Given the description of an element on the screen output the (x, y) to click on. 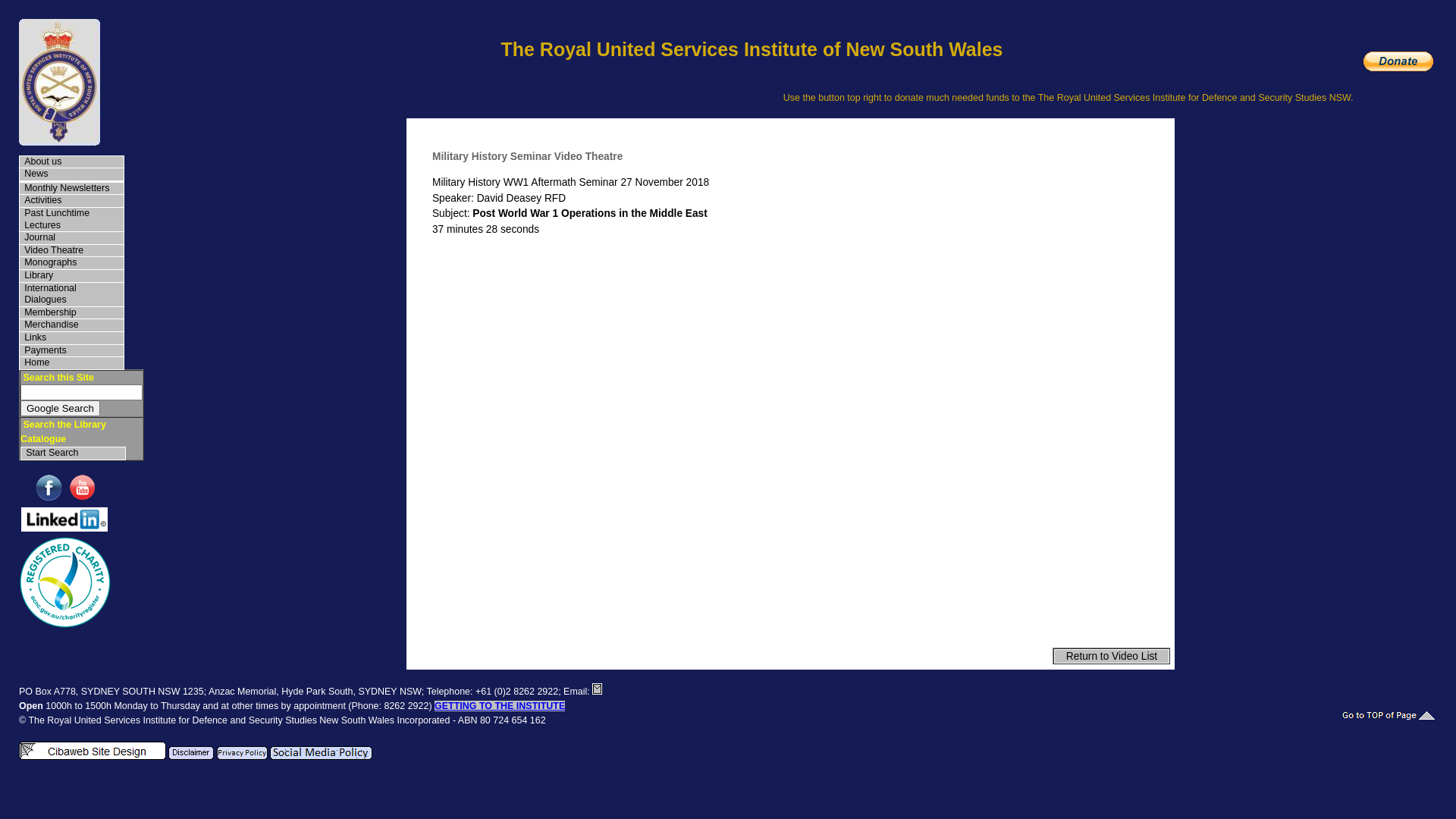
Privacy Policy Element type: hover (241, 752)
Charity Tick Element type: hover (64, 581)
Monographs Element type: text (71, 262)
The RUSI of NSW Home Element type: hover (65, 84)
Past Lunchtime Lectures Element type: text (71, 219)
Membership Element type: text (71, 313)
DONATE Element type: hover (1398, 61)
Go to Top of Page Element type: hover (1389, 714)
Library Element type: text (71, 275)
News Element type: text (71, 174)
Merchandise Element type: text (71, 325)
Links Element type: text (71, 338)
Home Element type: text (71, 363)
Return to Video List Element type: text (1112, 656)
website designed and maintained by Cibaweb Element type: hover (92, 750)
Journal Element type: text (71, 237)
Contact by eMail Element type: hover (597, 688)
Linkedin Element type: hover (64, 519)
GETTING TO THE INSTITUTE Element type: text (499, 705)
About us Element type: text (71, 162)
Site Disclaimer Element type: hover (190, 752)
Monthly Newsletters Element type: text (71, 188)
Activities Element type: text (71, 200)
Google Search Element type: text (60, 408)
Visit us on Facebook Element type: hover (50, 488)
Payments Element type: text (71, 350)
Social Media Policy Element type: hover (320, 752)
Start Search Element type: text (72, 453)
International Dialogues Element type: text (71, 294)
Visit our YouTube Channel Element type: hover (81, 488)
Video Theatre Element type: text (71, 250)
